Given the description of an element on the screen output the (x, y) to click on. 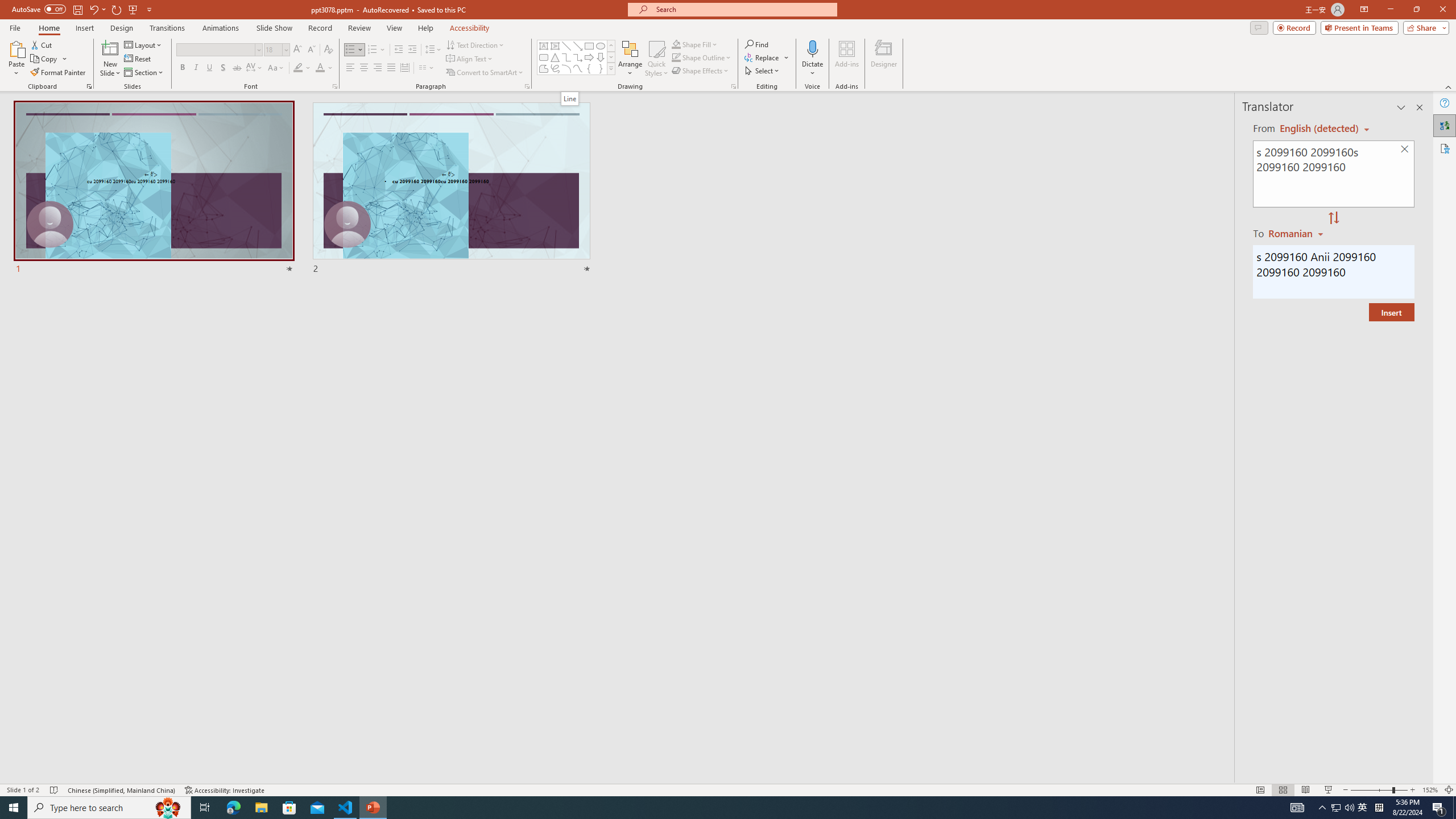
Reset (138, 58)
Decrease Font Size (310, 49)
Connector: Elbow Arrow (577, 57)
Font Color (324, 67)
Columns (426, 67)
Line (566, 45)
Clear Formatting (327, 49)
